Given the description of an element on the screen output the (x, y) to click on. 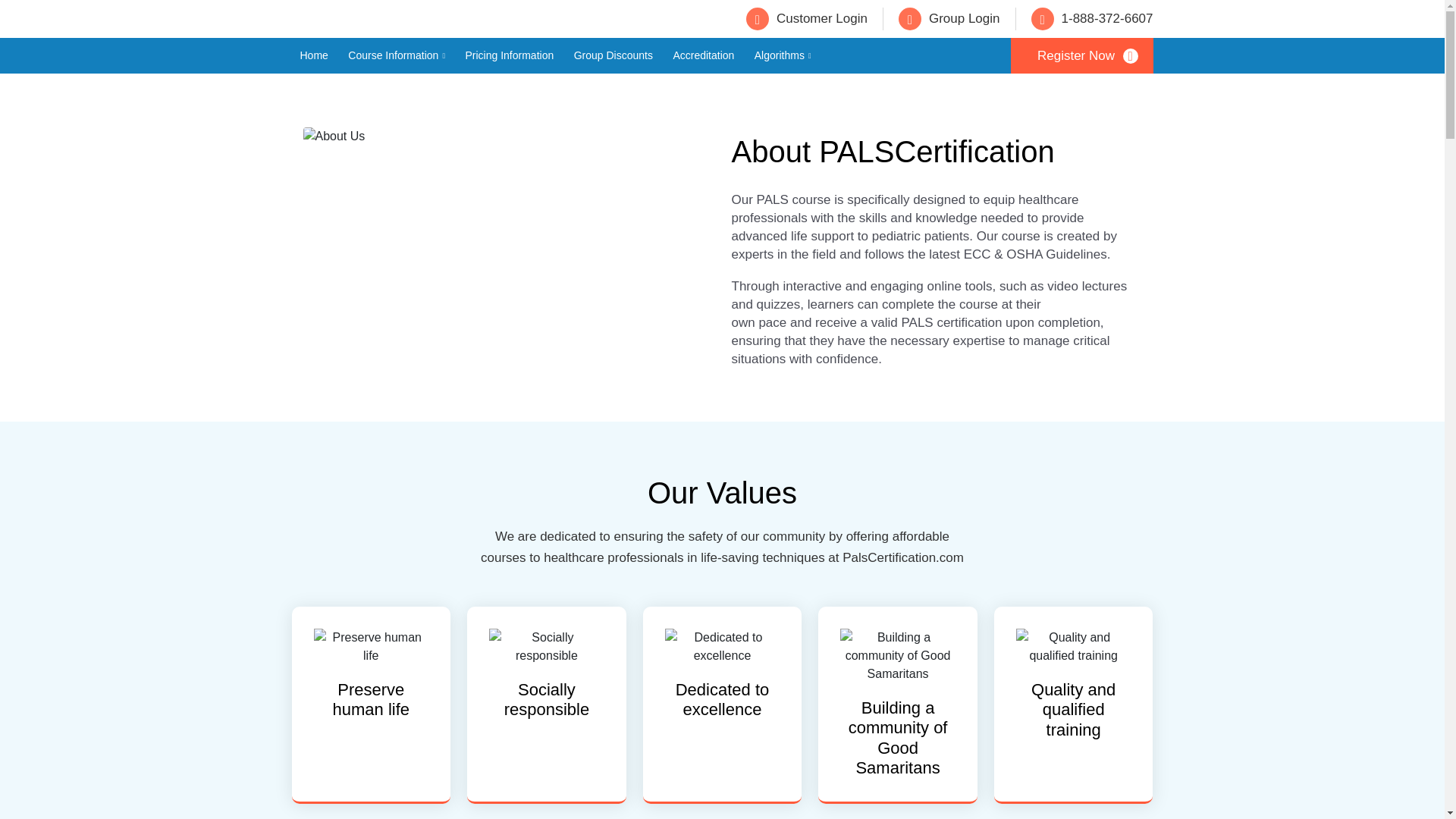
Pricing Information (509, 55)
Group Login (949, 18)
Register Now (1081, 55)
Accreditation (702, 55)
Course Information (395, 55)
Home (313, 55)
Group Discounts (613, 55)
Algorithms (782, 55)
1-888-372-6607 (1091, 18)
Customer Login (806, 18)
